Given the description of an element on the screen output the (x, y) to click on. 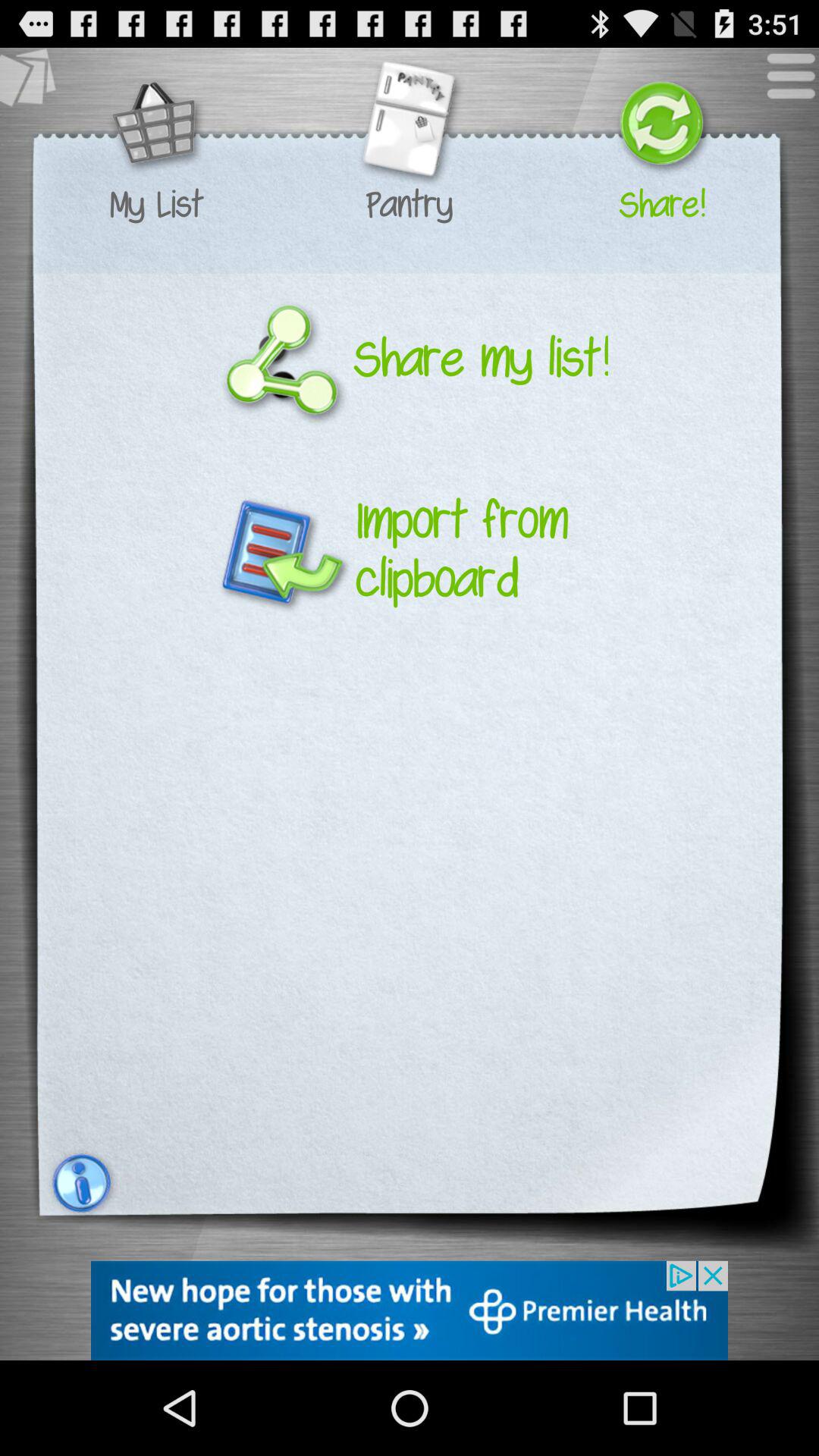
menu button (783, 83)
